Given the description of an element on the screen output the (x, y) to click on. 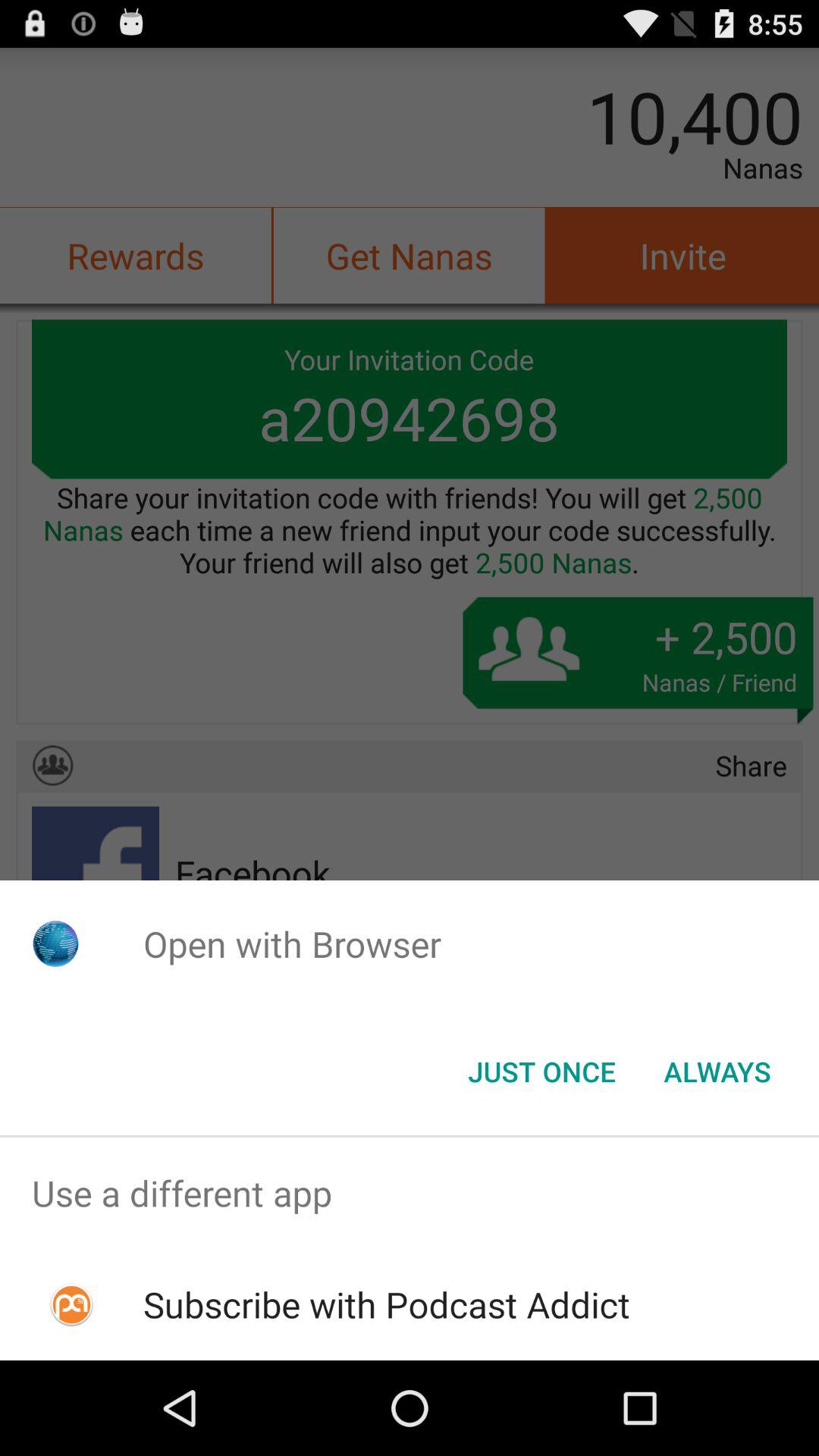
launch the icon below use a different app (386, 1304)
